Given the description of an element on the screen output the (x, y) to click on. 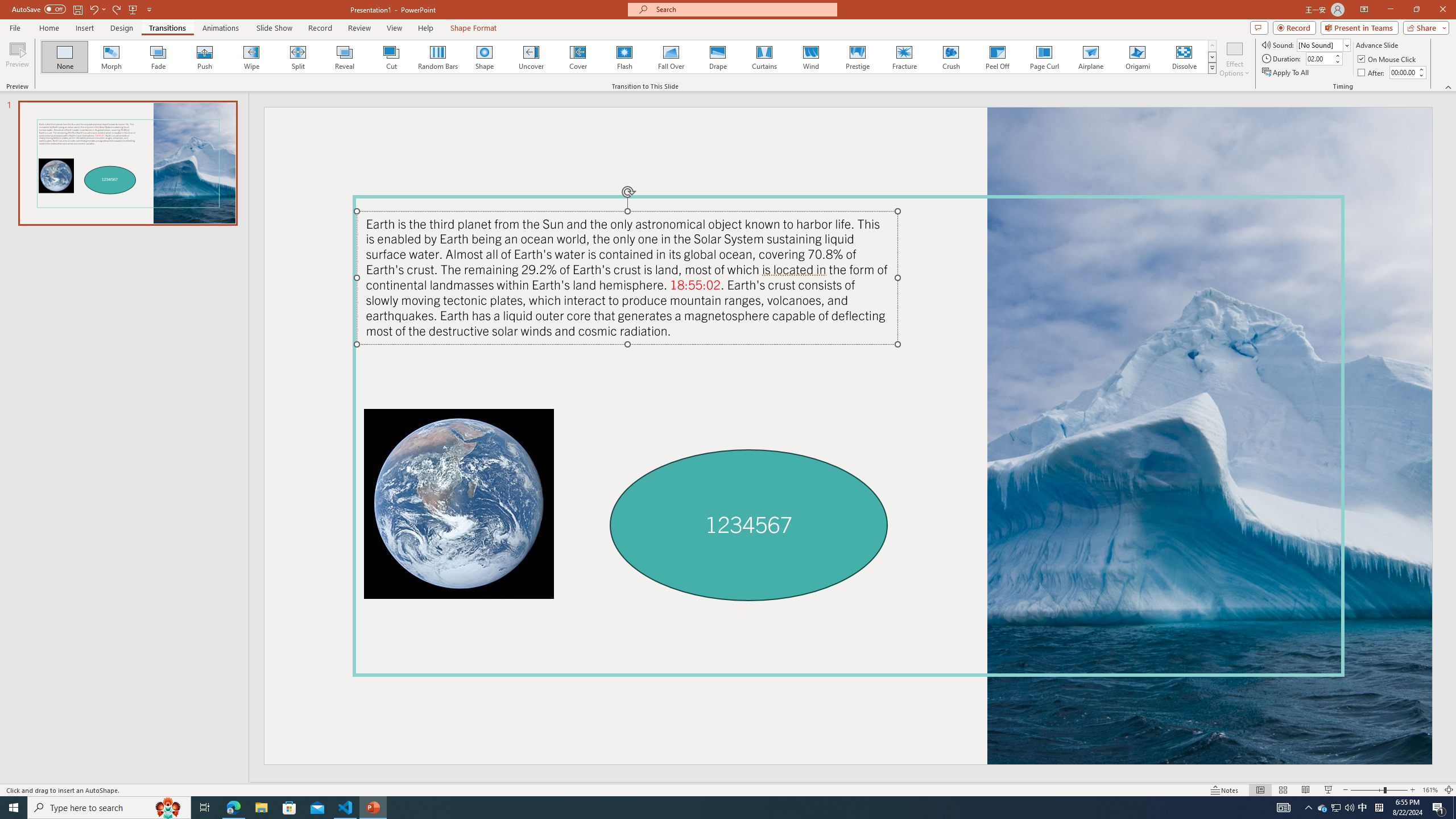
On Mouse Click (1387, 58)
Apply To All (1286, 72)
Dissolve (1183, 56)
After (1403, 72)
Fracture (903, 56)
Origami (1136, 56)
Split (298, 56)
